Given the description of an element on the screen output the (x, y) to click on. 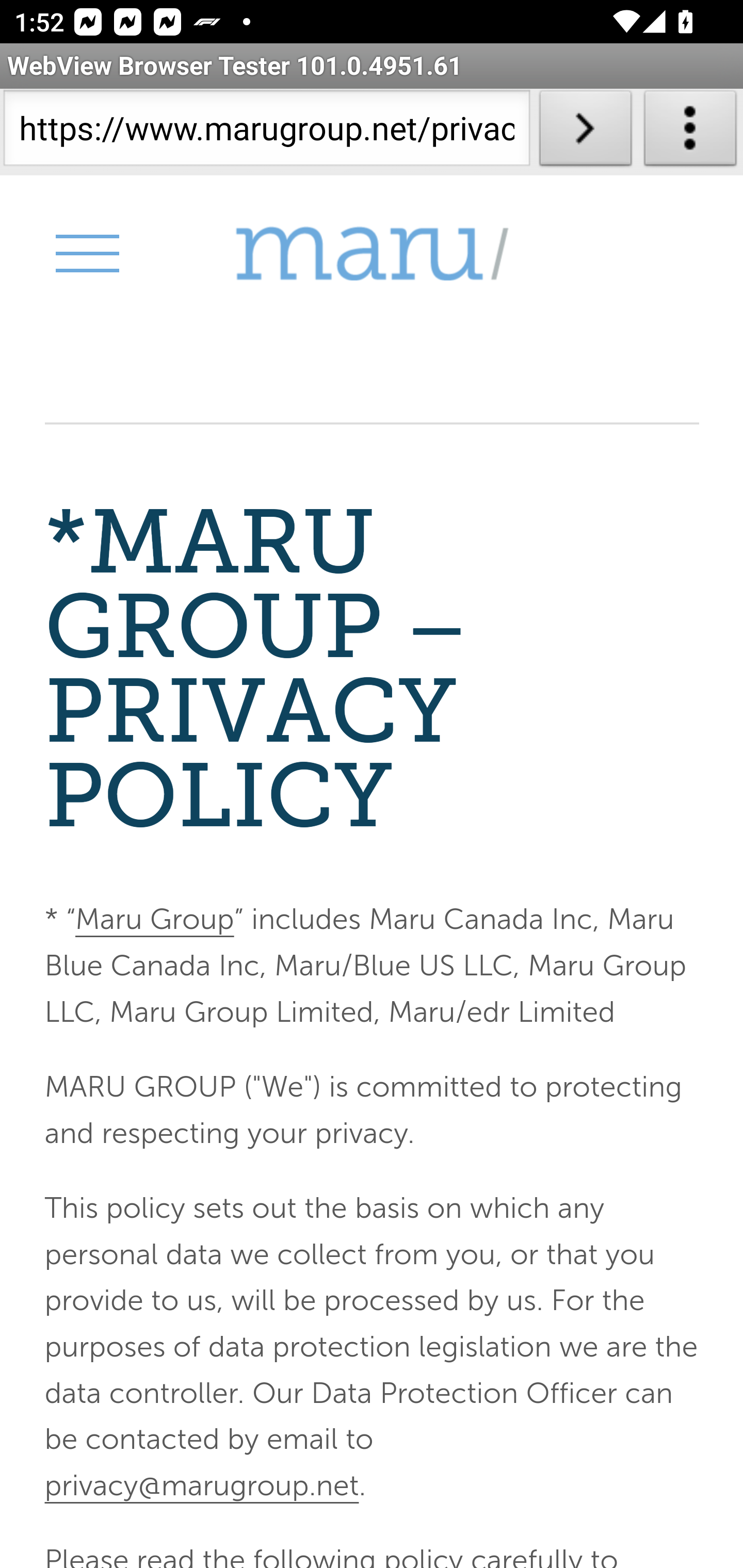
https://www.marugroup.net/privacy-policy (266, 132)
Load URL (585, 132)
About WebView (690, 132)
Open Menu (86, 252)
Maru Group (371, 253)
Maru Group (153, 920)
privacy@marugroup.net (200, 1484)
